Given the description of an element on the screen output the (x, y) to click on. 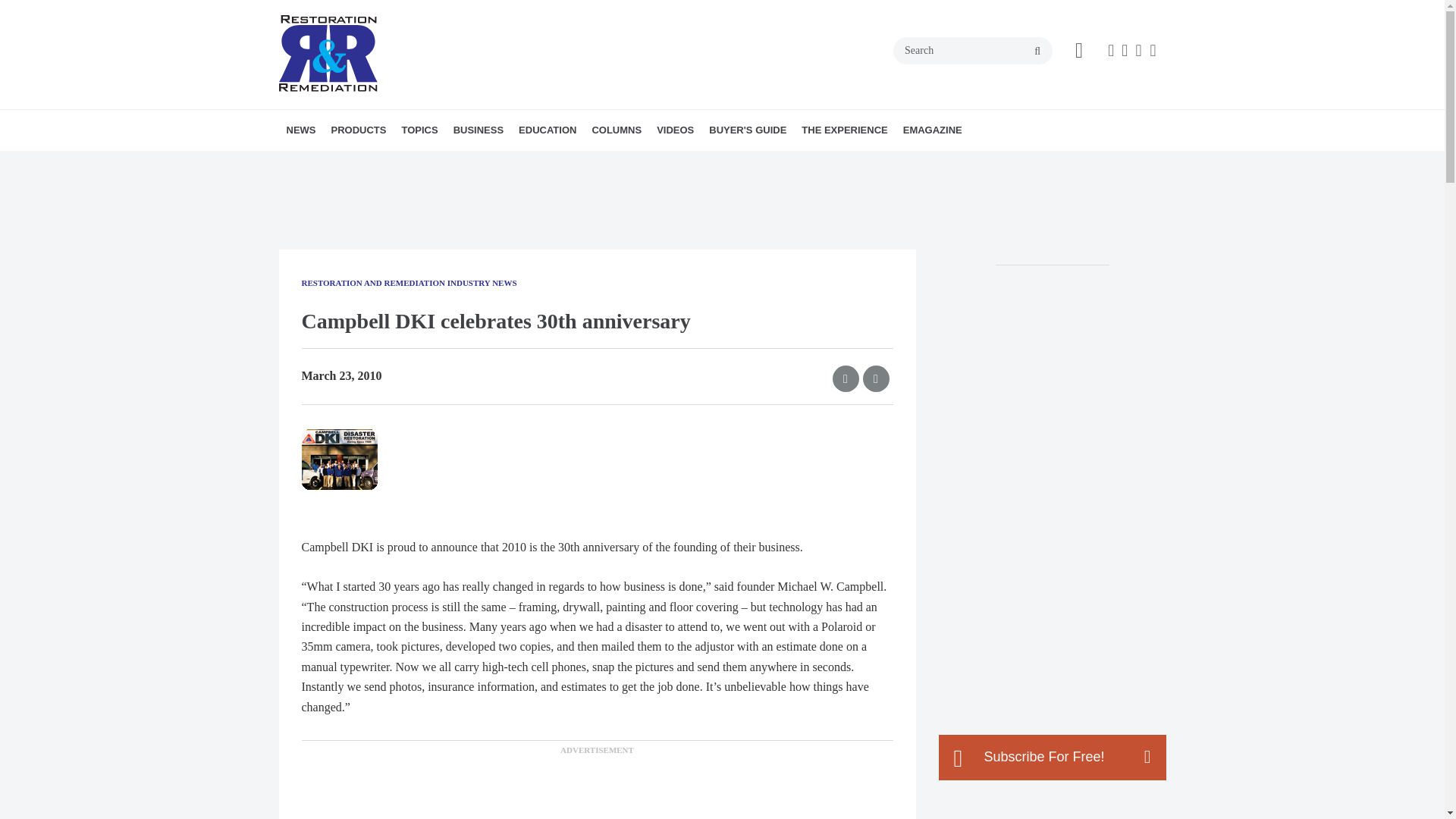
BUSINESS (478, 129)
Search (972, 50)
WEBINARS (619, 163)
HOW TO (605, 163)
TOPICS (419, 129)
Search (972, 50)
INTERACTIVE PRODUCT SPOTLIGHTS (434, 171)
WHITEPAPERS (628, 163)
CONTENTS (516, 163)
MOLD (501, 163)
